Given the description of an element on the screen output the (x, y) to click on. 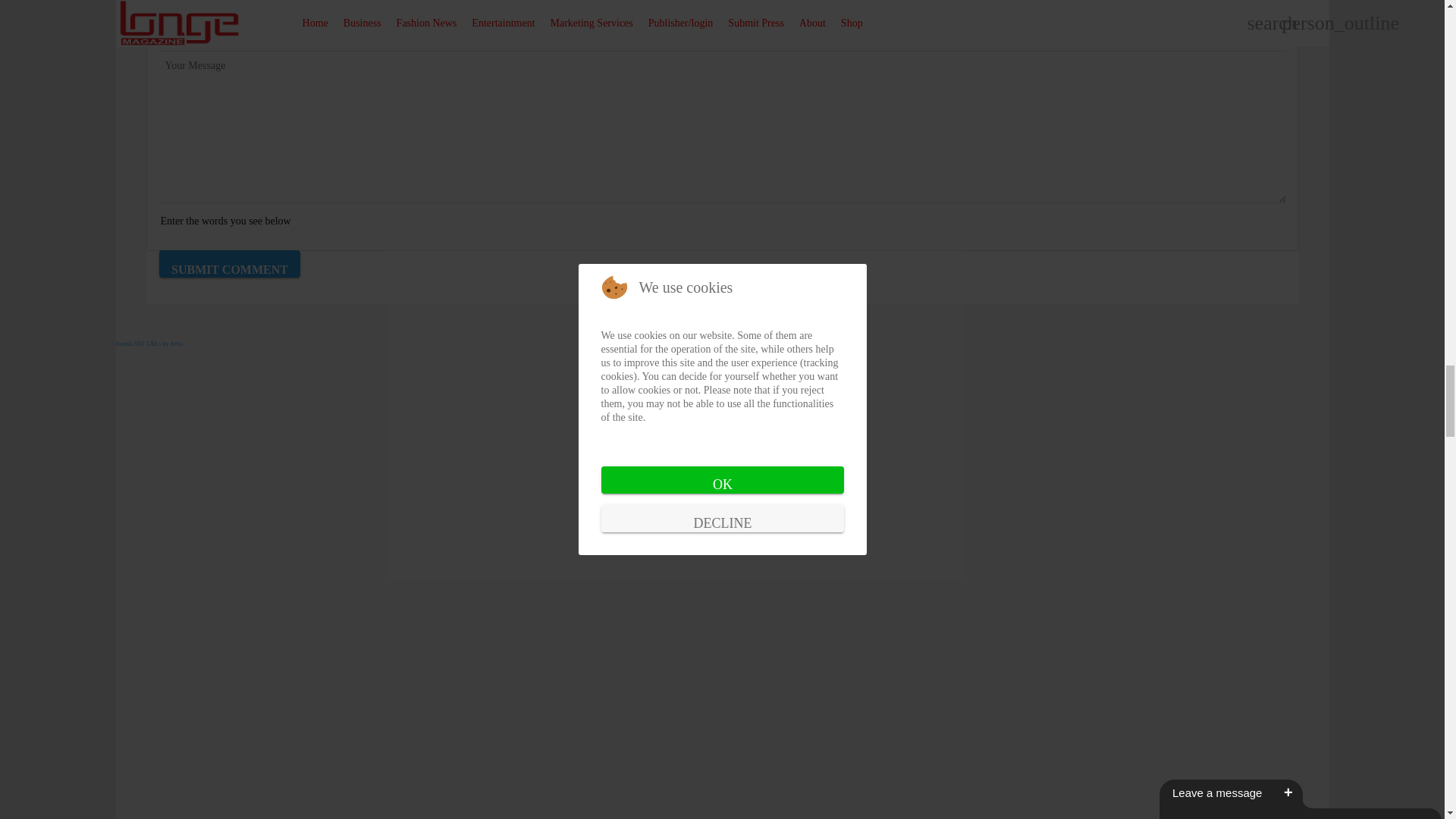
Your e-mail (721, 11)
Submit comment (228, 263)
Your website (721, 36)
